Given the description of an element on the screen output the (x, y) to click on. 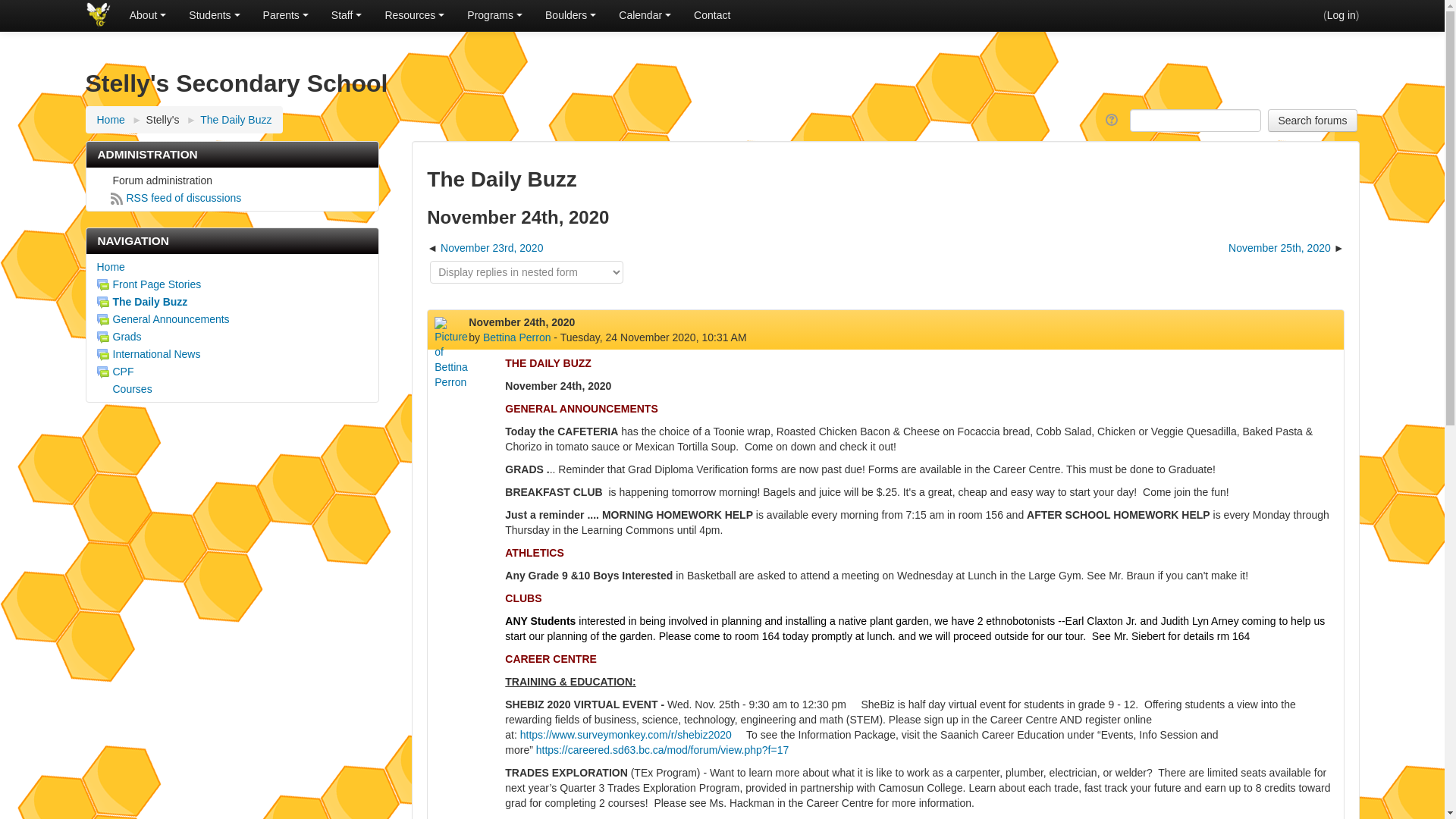
Students (213, 15)
About (147, 15)
Log in (1340, 15)
About (147, 15)
Search forums (1312, 119)
Parents (285, 15)
Students (213, 15)
